Given the description of an element on the screen output the (x, y) to click on. 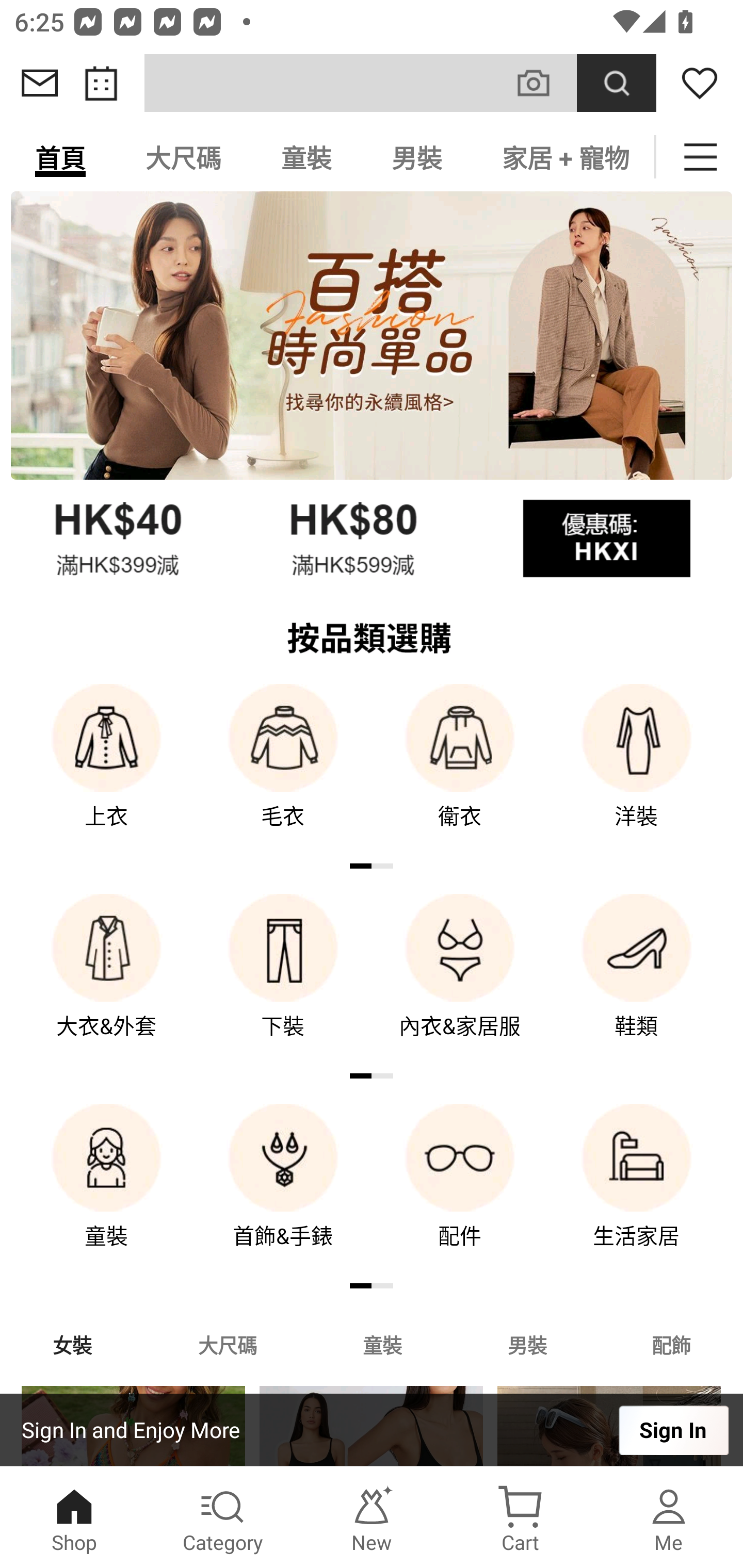
Wishlist (699, 82)
VISUAL SEARCH (543, 82)
首頁 (60, 156)
大尺碼 (183, 156)
童裝 (306, 156)
男裝 (416, 156)
家居 + 寵物 (563, 156)
上衣 (105, 769)
毛衣 (282, 769)
衛衣 (459, 769)
洋裝 (636, 769)
大衣&外套 (105, 979)
下裝 (282, 979)
內衣&家居服 (459, 979)
鞋類 (636, 979)
童裝 (105, 1189)
首飾&手錶 (282, 1189)
配件 (459, 1189)
生活家居 (636, 1189)
女裝 (72, 1344)
大尺碼 (226, 1344)
童裝 (381, 1344)
男裝 (527, 1344)
配飾 (671, 1344)
Sign In and Enjoy More Sign In (371, 1429)
Category (222, 1517)
New (371, 1517)
Cart (519, 1517)
Me (668, 1517)
